Given the description of an element on the screen output the (x, y) to click on. 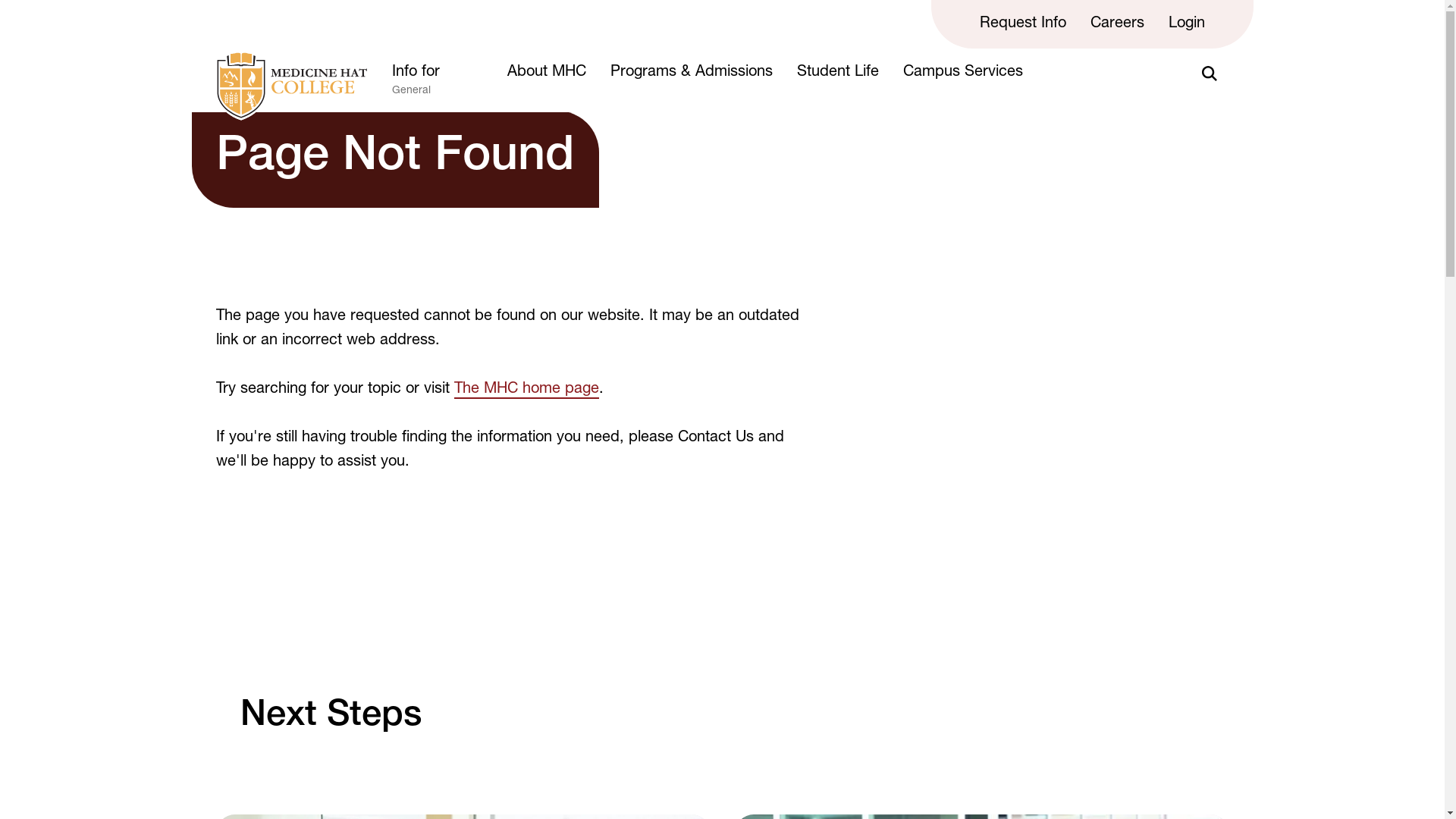
The MHC home page Element type: text (525, 390)
Info for
General Element type: text (436, 85)
Careers Element type: text (1117, 24)
Search Element type: hover (1209, 73)
Login Element type: text (1185, 24)
Programs & Admissions Element type: text (690, 72)
Campus Services Element type: text (962, 72)
About MHC Element type: text (545, 72)
Student Life Element type: text (837, 72)
Request Info Element type: text (1022, 24)
